Given the description of an element on the screen output the (x, y) to click on. 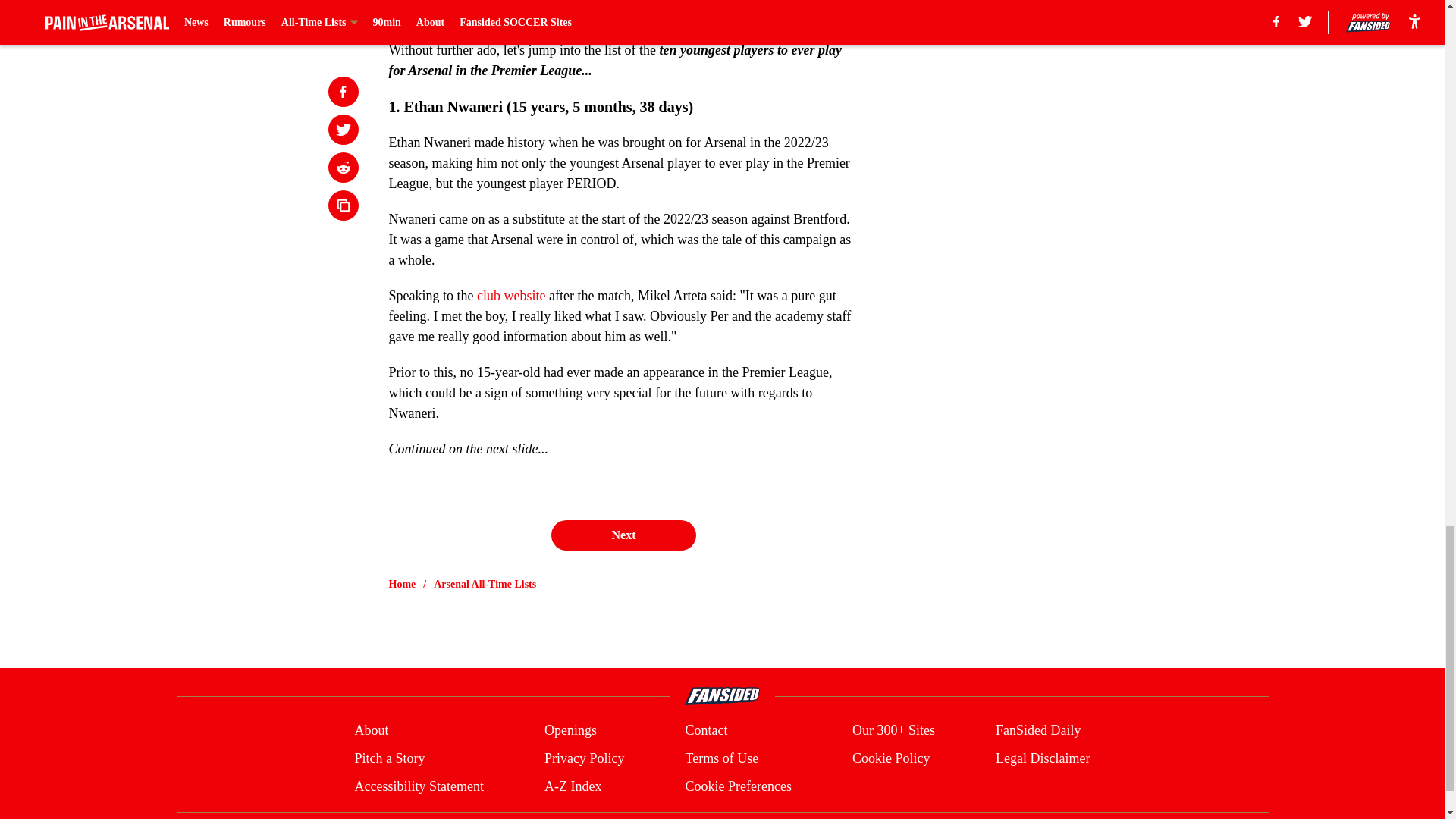
Next (622, 535)
Legal Disclaimer (1042, 758)
A-Z Index (572, 786)
Cookie Policy (890, 758)
FanSided Daily (1038, 730)
About (370, 730)
Pitch a Story (389, 758)
Arsenal All-Time Lists (484, 584)
Home (401, 584)
Openings (570, 730)
